Given the description of an element on the screen output the (x, y) to click on. 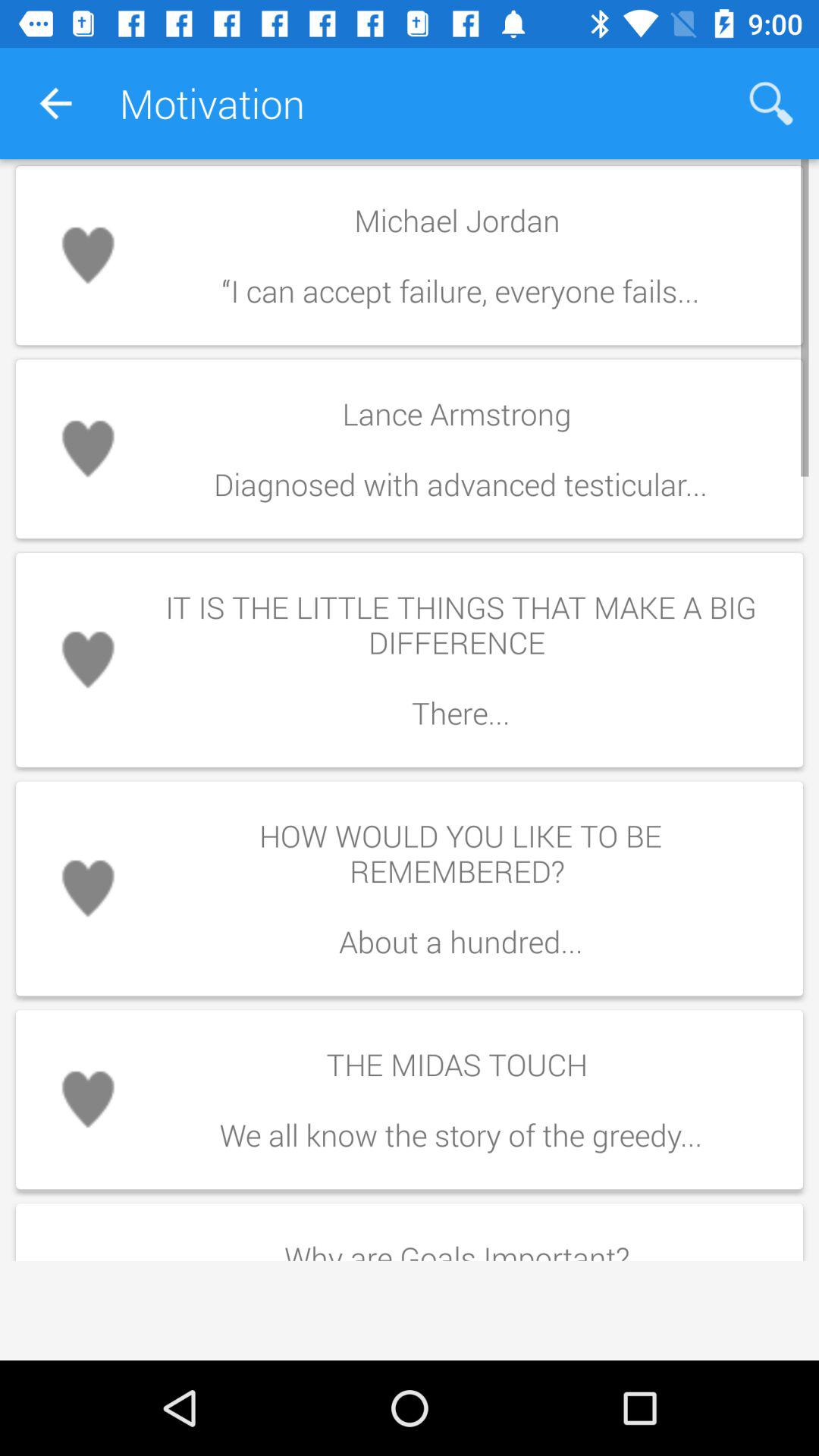
press the item below michael jordan  item (460, 448)
